Given the description of an element on the screen output the (x, y) to click on. 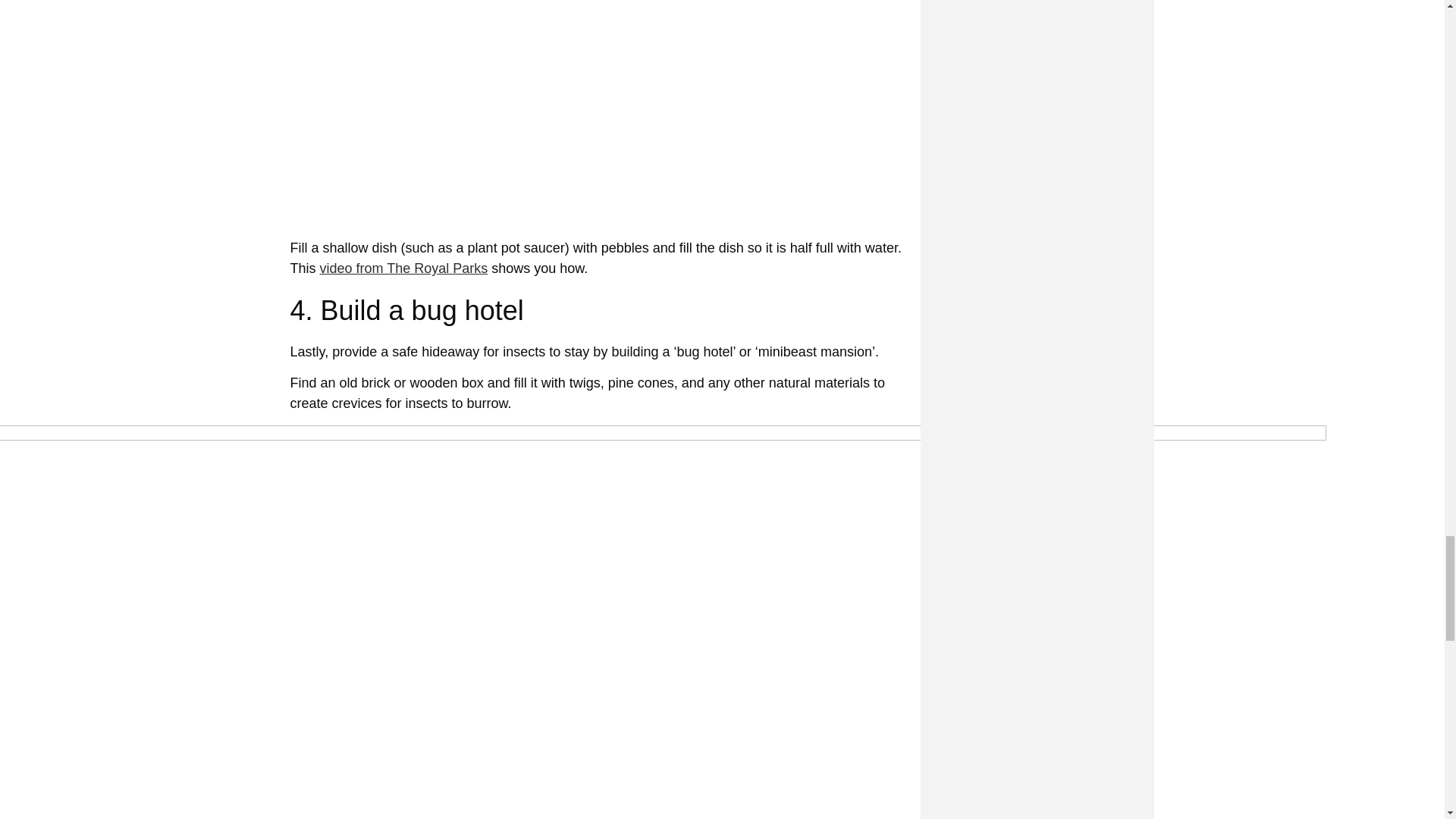
video from The Royal Parks (403, 268)
